Given the description of an element on the screen output the (x, y) to click on. 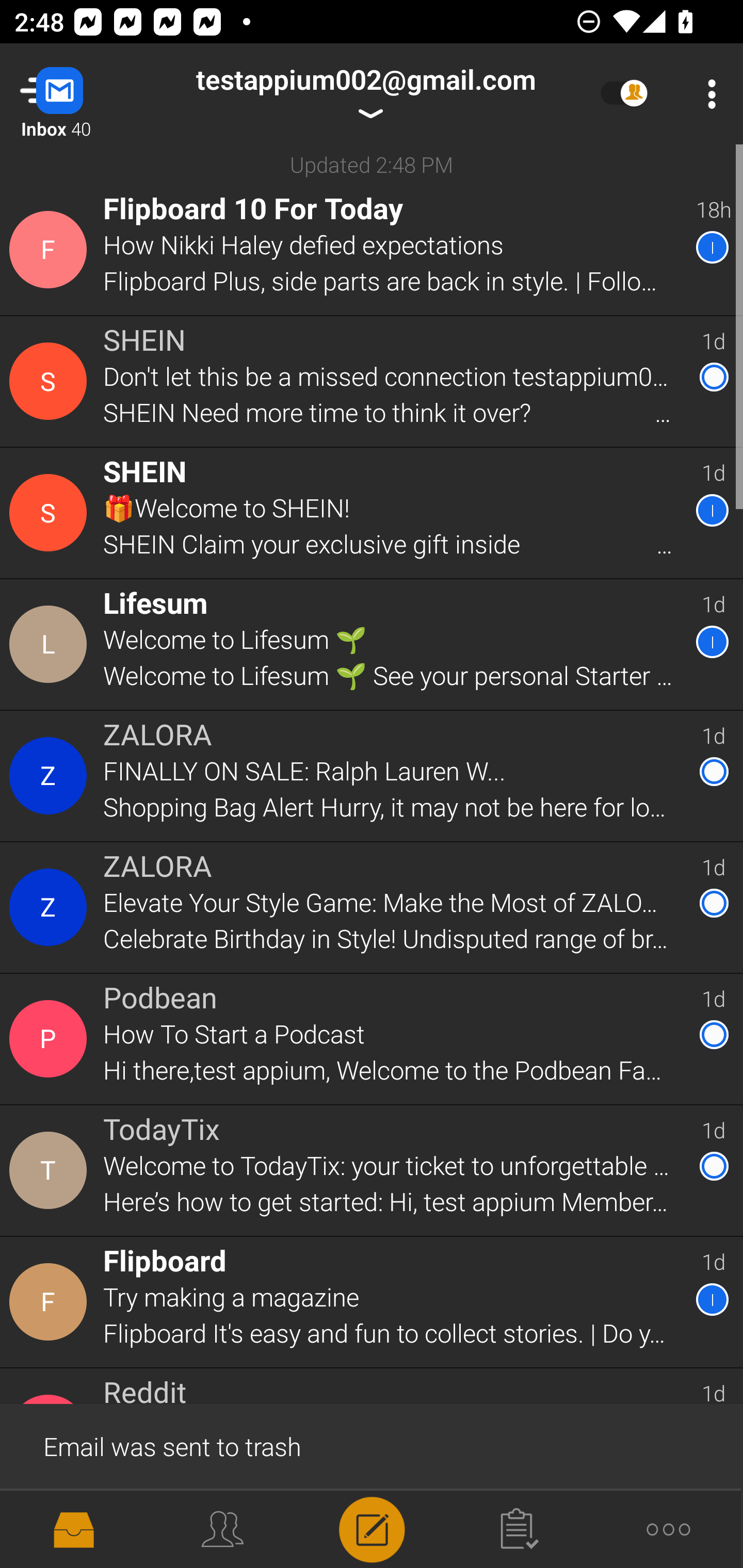
Navigate up (81, 93)
testappium002@gmail.com (365, 93)
More Options (706, 93)
Updated 2:48 PM (371, 164)
Contact Details (50, 250)
Contact Details (50, 381)
Contact Details (50, 513)
Contact Details (50, 644)
Contact Details (50, 776)
Contact Details (50, 907)
Contact Details (50, 1038)
Contact Details (50, 1170)
Contact Details (50, 1302)
Email was sent to trash (371, 1445)
